Given the description of an element on the screen output the (x, y) to click on. 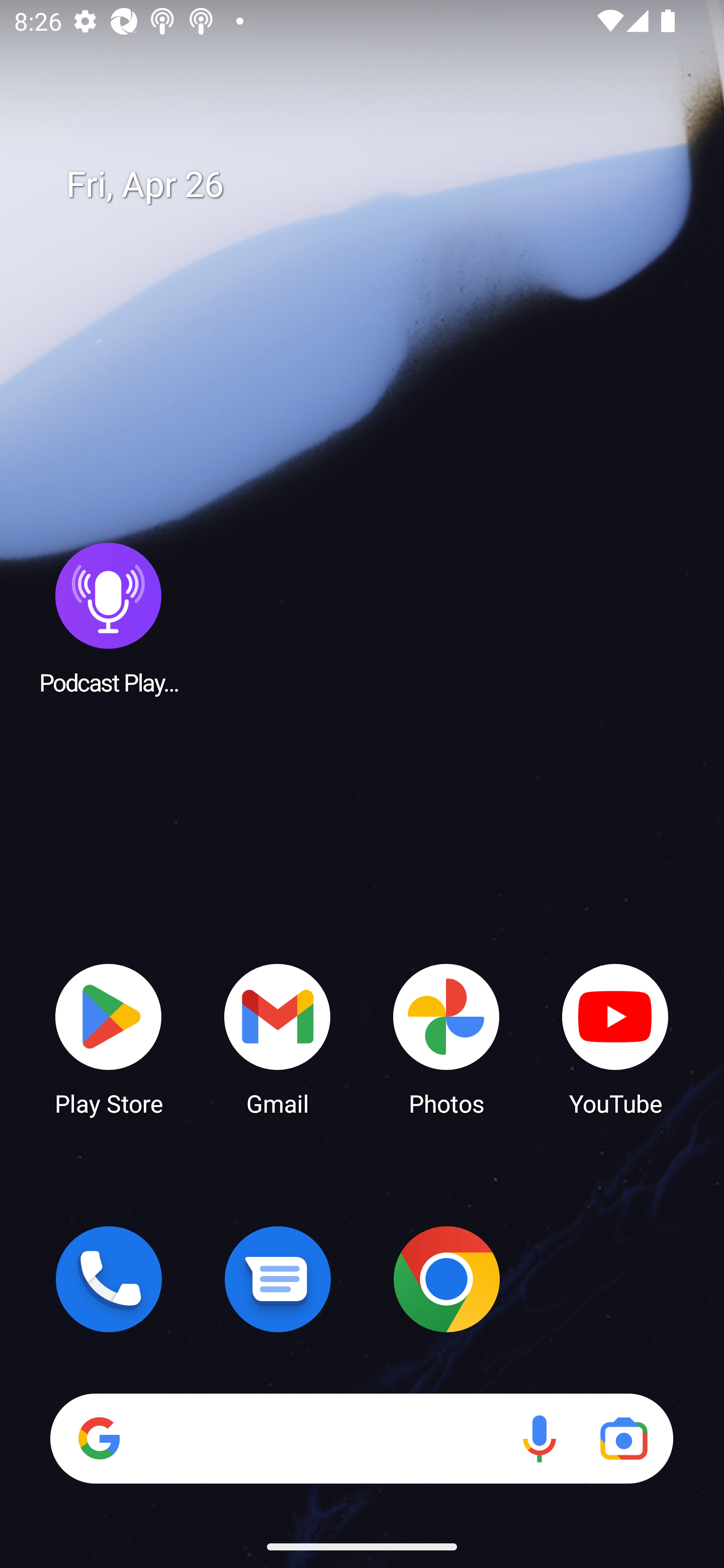
Fri, Apr 26 (375, 184)
Podcast Player (108, 617)
Play Store (108, 1038)
Gmail (277, 1038)
Photos (445, 1038)
YouTube (615, 1038)
Phone (108, 1279)
Messages (277, 1279)
Chrome (446, 1279)
Search Voice search Google Lens (361, 1438)
Voice search (539, 1438)
Google Lens (623, 1438)
